Given the description of an element on the screen output the (x, y) to click on. 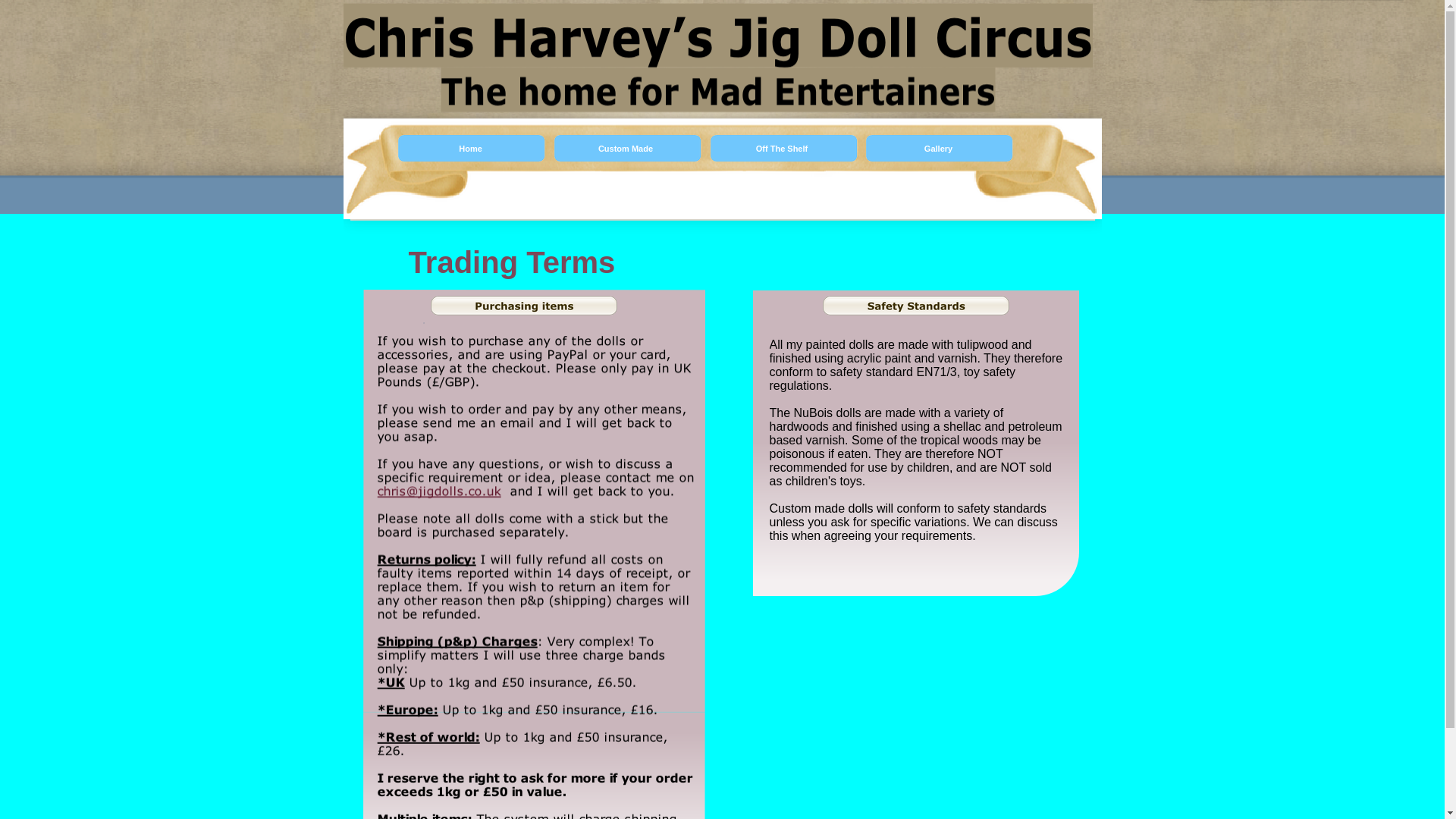
Gallery (938, 148)
Custom Made  (627, 148)
Off The Shelf  (784, 148)
Home (471, 148)
